Given the description of an element on the screen output the (x, y) to click on. 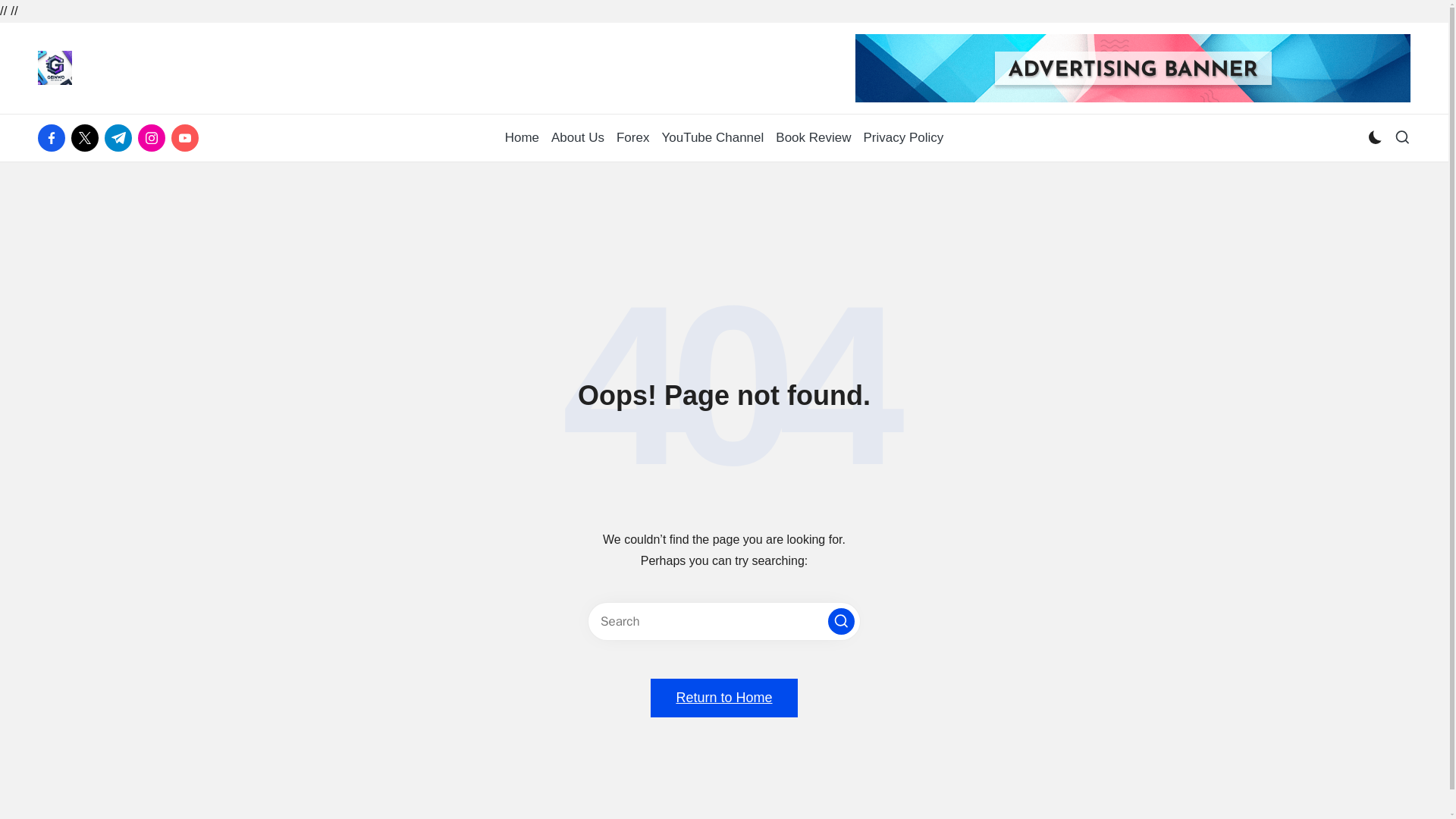
Return to Home (723, 697)
instagram.com (154, 137)
Privacy Policy (903, 137)
facebook.com (54, 137)
Book Review (813, 137)
YouTube Channel (711, 137)
twitter.com (87, 137)
t.me (121, 137)
youtube.com (188, 137)
About Us (577, 137)
